Given the description of an element on the screen output the (x, y) to click on. 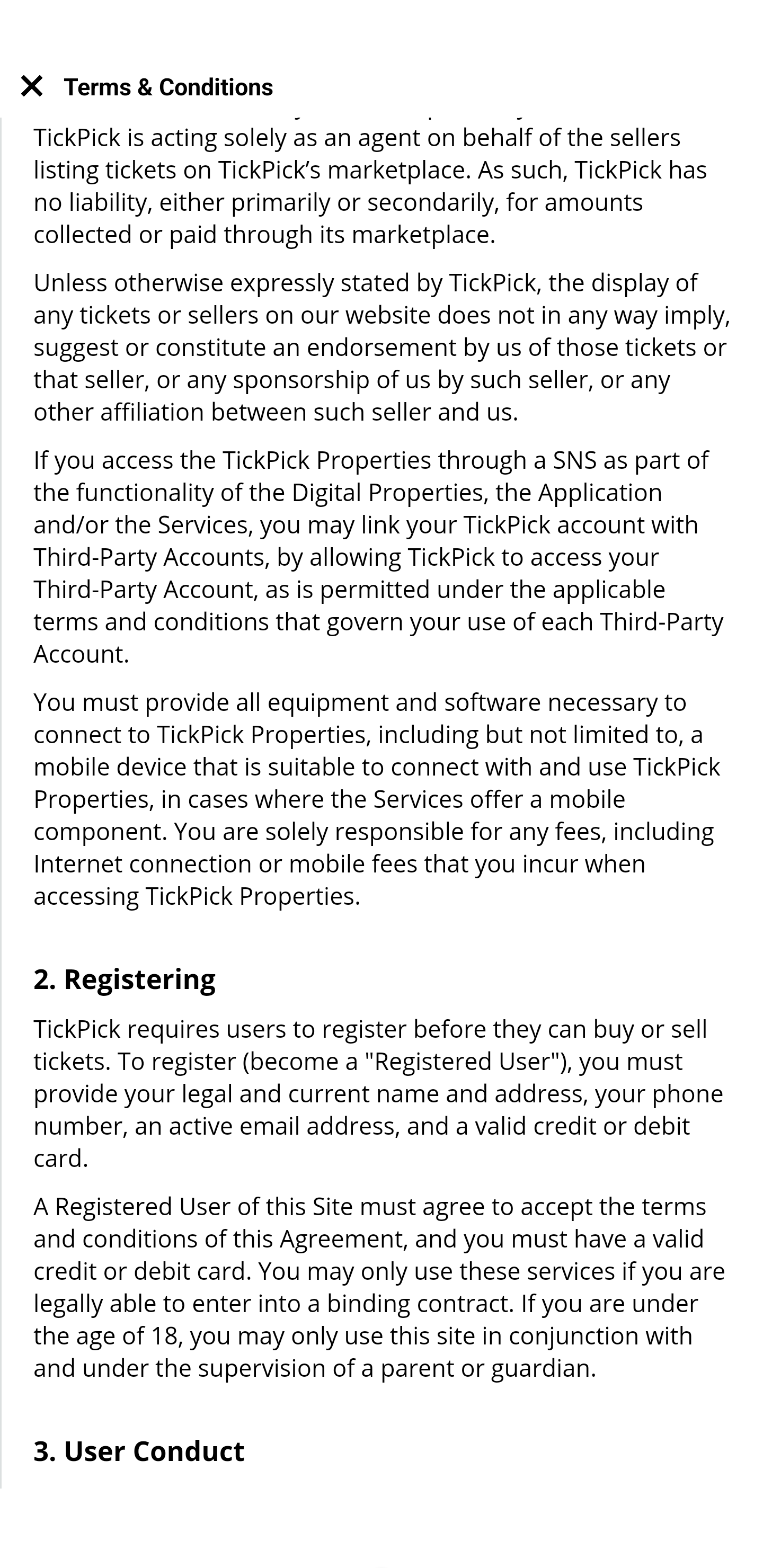
BuyerTrust Guarantee,    BuyerTrust Guarantee    (381, 981)
